Given the description of an element on the screen output the (x, y) to click on. 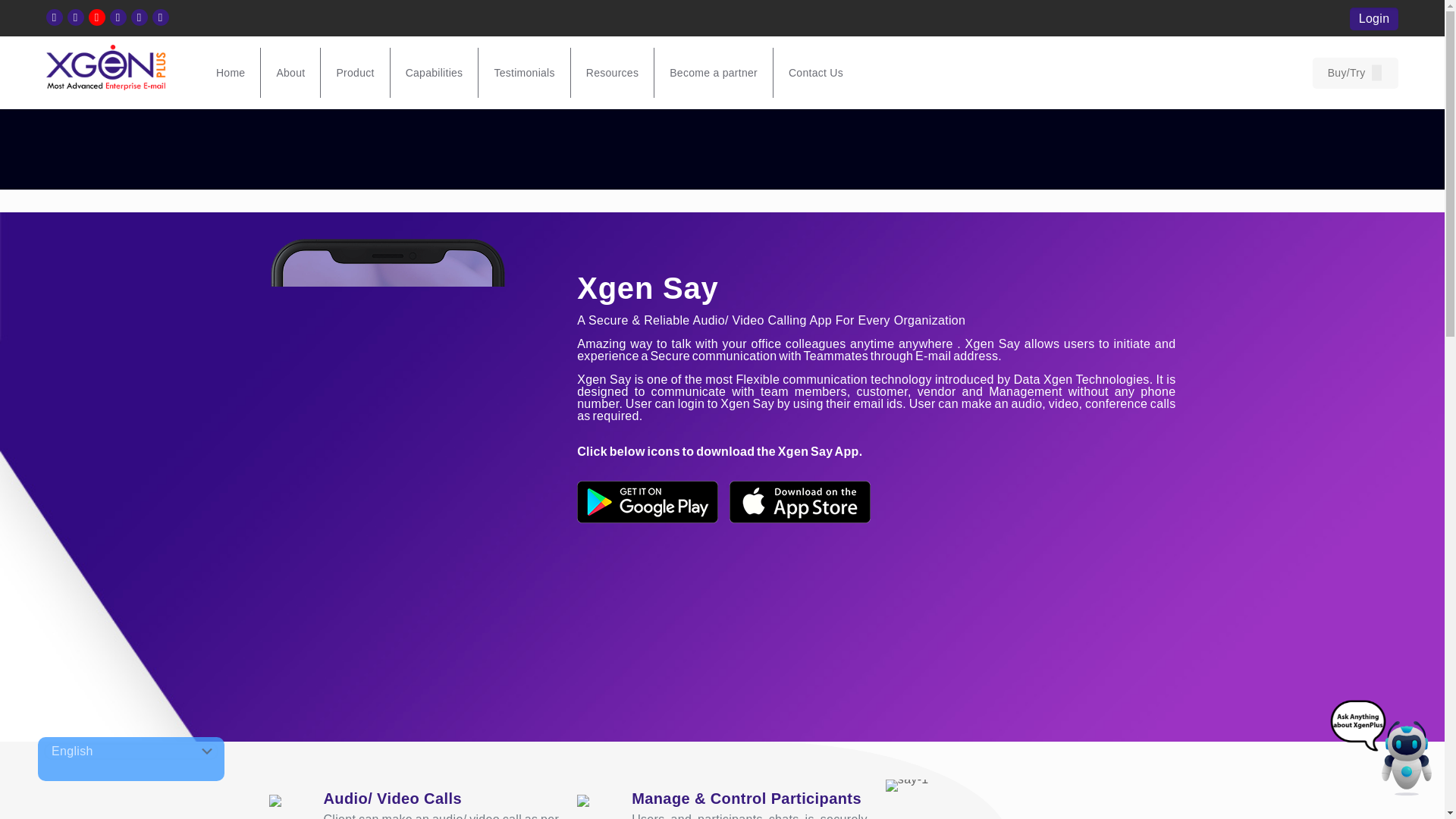
Twitter (74, 16)
Instagram (139, 16)
Resources (611, 72)
Capabilities (434, 72)
Login (1374, 18)
Product (355, 72)
Contact Us (816, 72)
LinkedIn (117, 16)
Facebook (54, 16)
Become a partner (713, 72)
Testimonials (524, 72)
Login (1374, 17)
Download App (160, 16)
YouTube (96, 16)
